Given the description of an element on the screen output the (x, y) to click on. 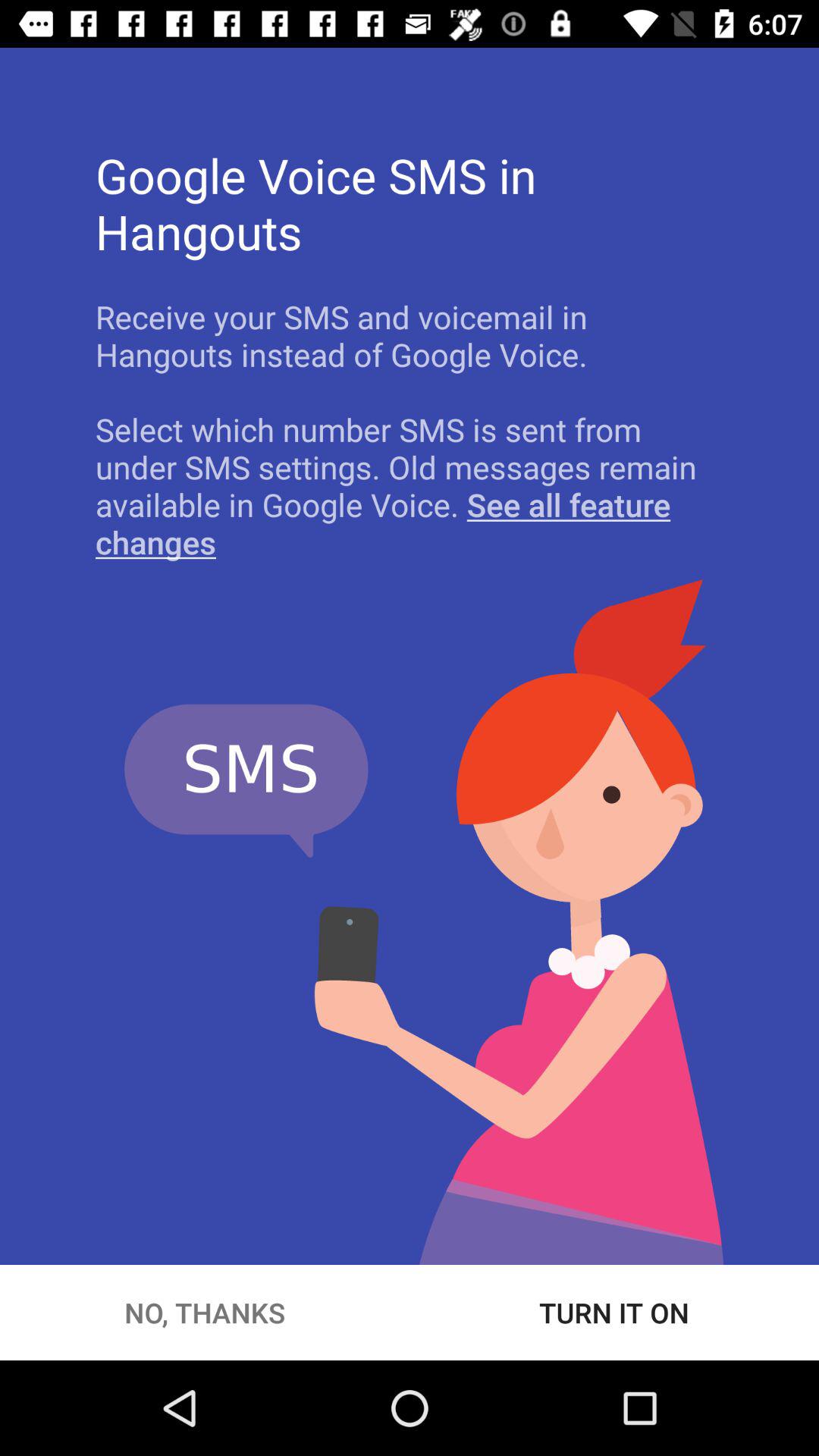
turn off the icon below the receive your sms (409, 485)
